Given the description of an element on the screen output the (x, y) to click on. 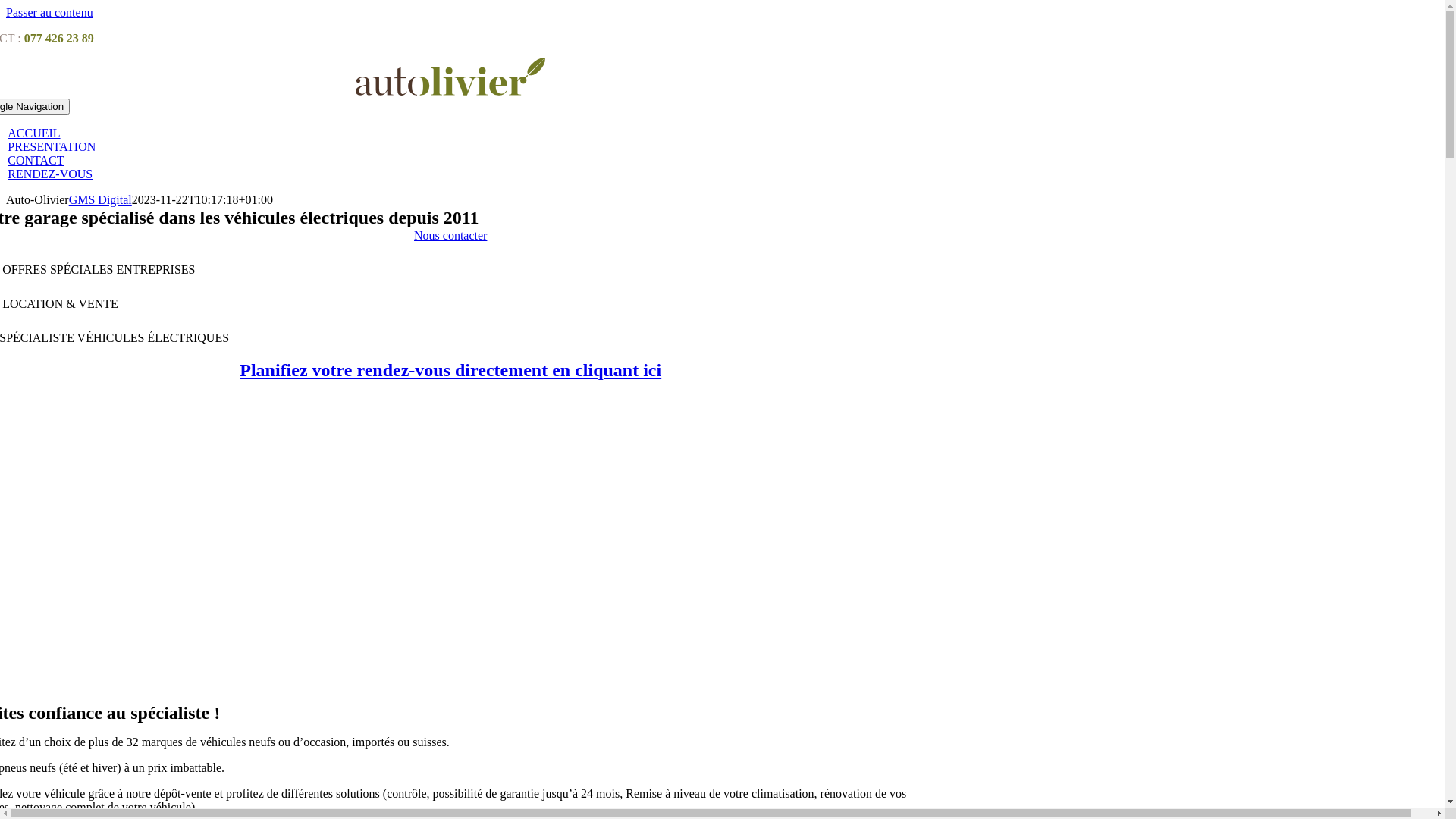
Nous contacter Element type: text (450, 235)
RENDEZ-VOUS Element type: text (49, 173)
Planifiez votre rendez-vous directement en cliquant ici Element type: text (450, 369)
GMS Digital Element type: text (100, 199)
CONTACT Element type: text (35, 159)
PRESENTATION Element type: text (51, 146)
ACCUEIL Element type: text (33, 132)
Passer au contenu Element type: text (49, 12)
